Given the description of an element on the screen output the (x, y) to click on. 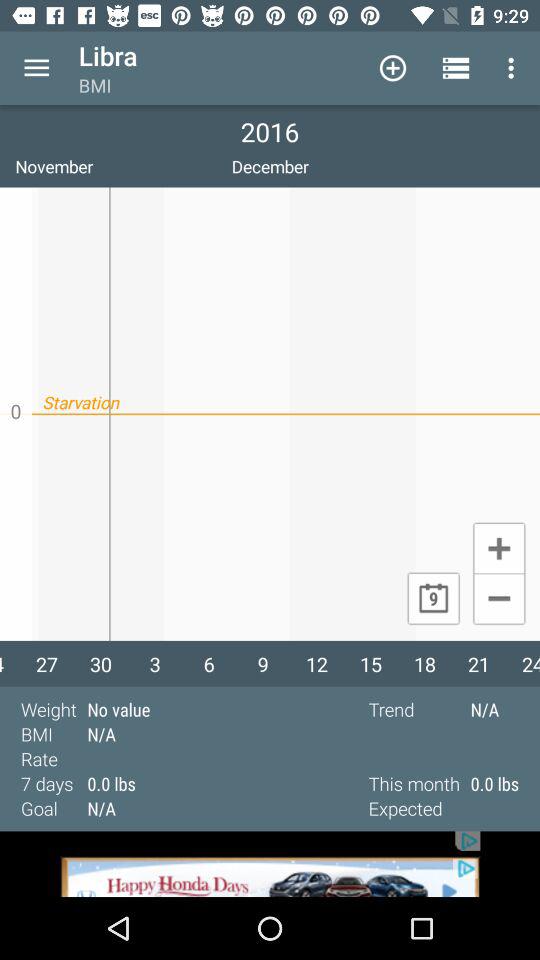
reduce time line (498, 599)
